Given the description of an element on the screen output the (x, y) to click on. 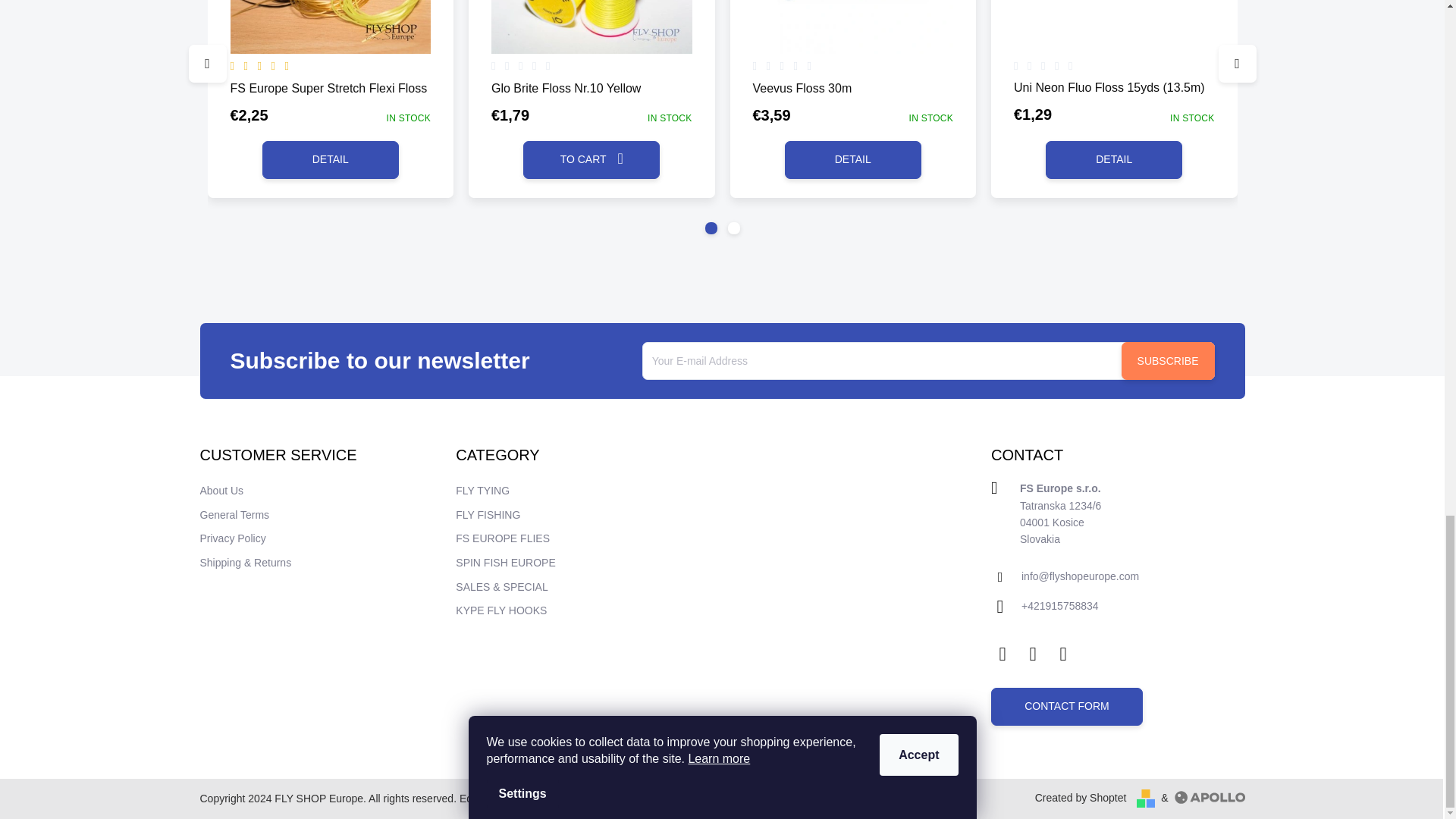
Phone (1060, 606)
